Given the description of an element on the screen output the (x, y) to click on. 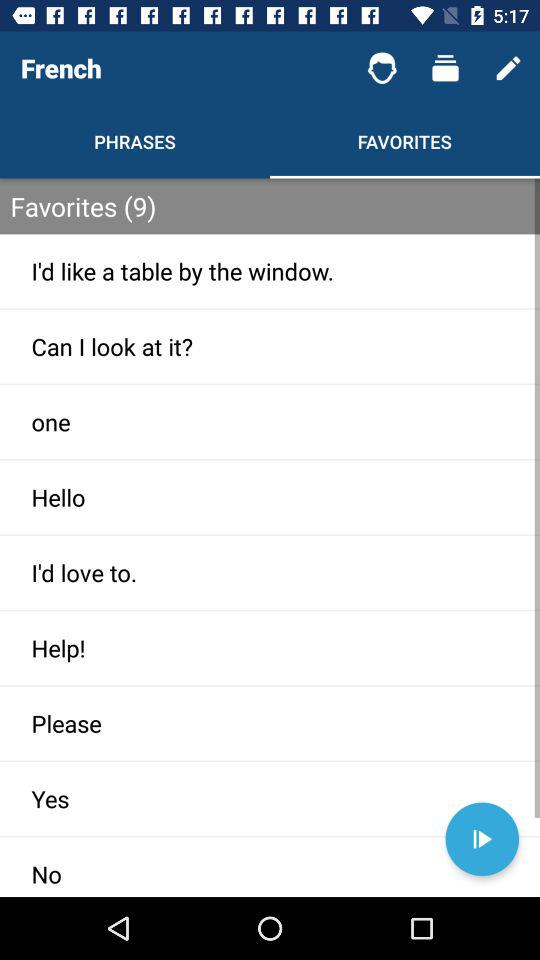
turn off item at the bottom right corner (482, 839)
